Given the description of an element on the screen output the (x, y) to click on. 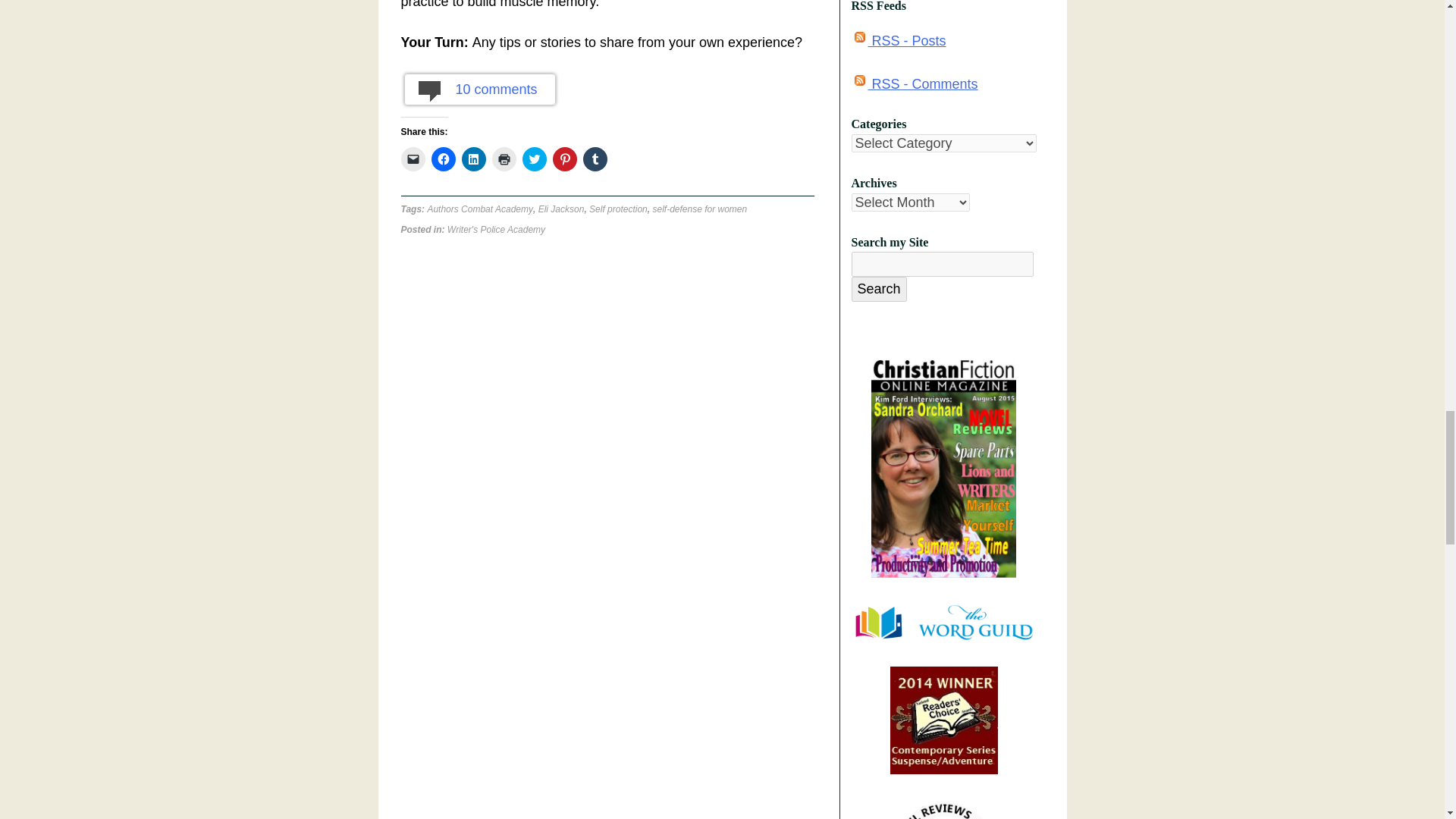
Click to share on Pinterest (563, 159)
Click to share on Facebook (442, 159)
Click to share on Twitter (533, 159)
Click to share on LinkedIn (472, 159)
Search (877, 289)
Click to print (503, 159)
Click to email a link to a friend (412, 159)
Subscribe to posts (897, 40)
Click to share on Tumblr (594, 159)
